Given the description of an element on the screen output the (x, y) to click on. 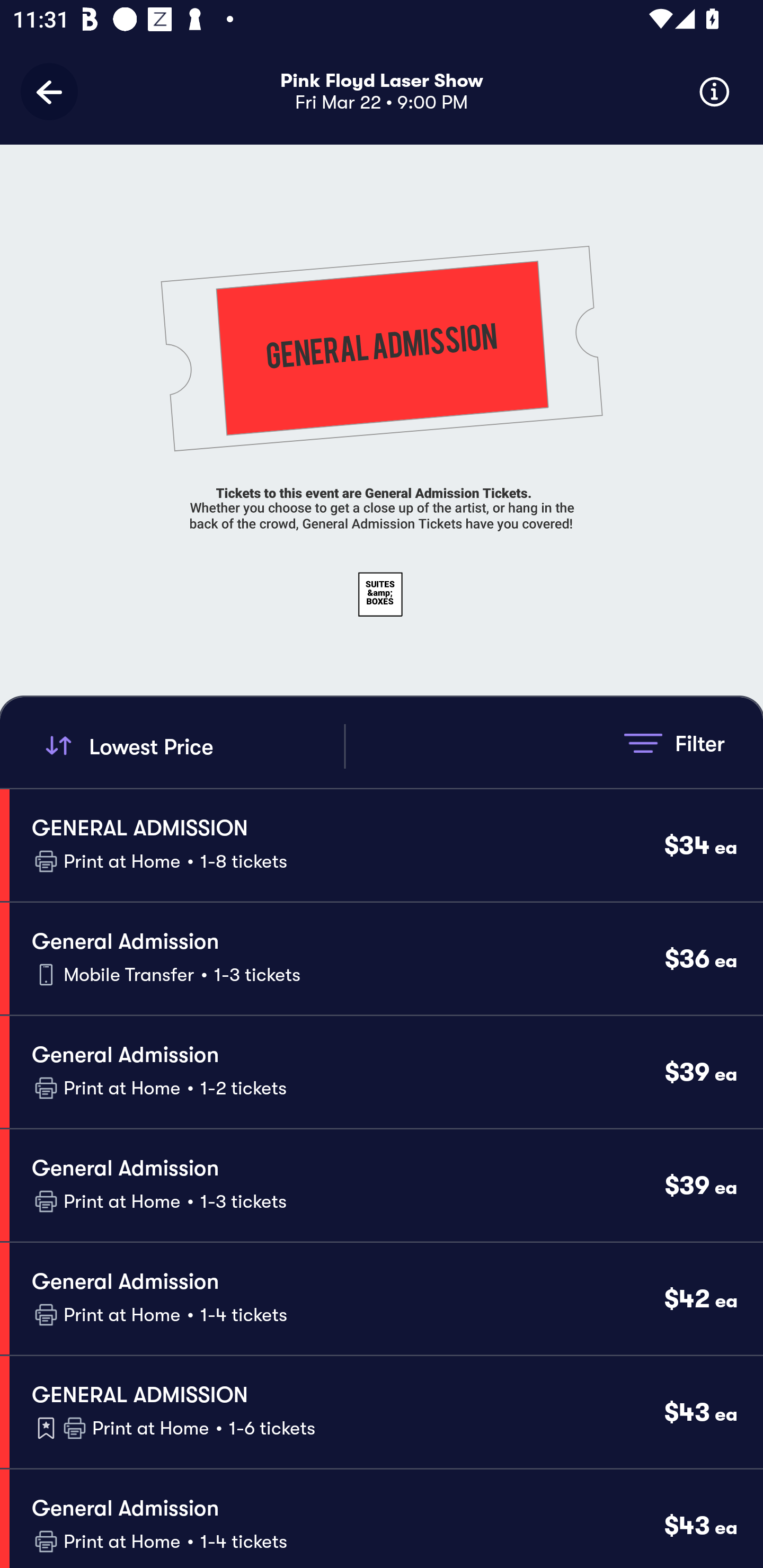
Lowest Price (191, 746)
Filter (674, 743)
